Given the description of an element on the screen output the (x, y) to click on. 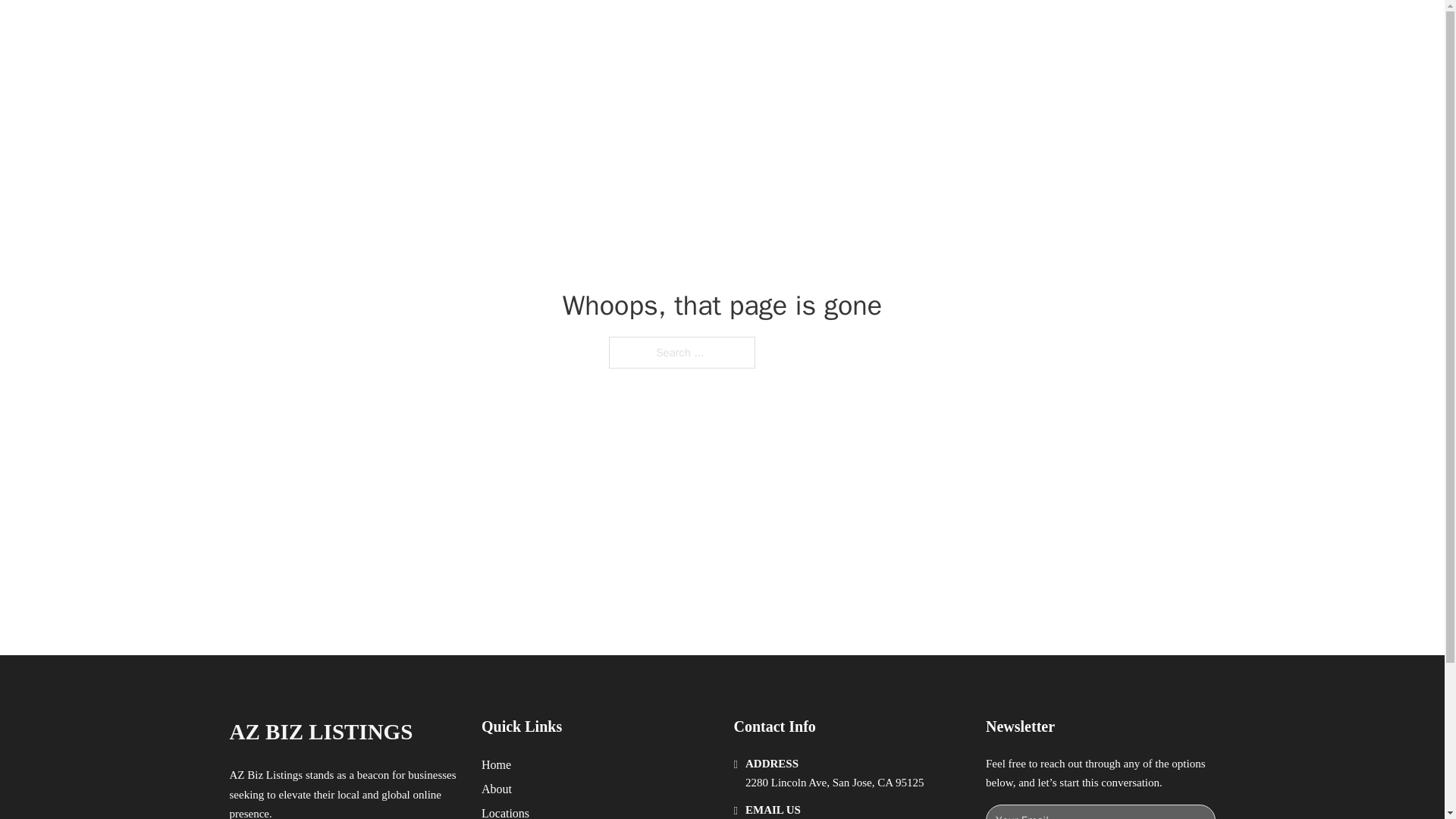
HOME (919, 29)
AZ BIZ LISTINGS (320, 732)
AZ BIZ LISTINGS (393, 28)
Home (496, 764)
About (496, 788)
Locations (505, 811)
LOCATIONS (990, 29)
